Given the description of an element on the screen output the (x, y) to click on. 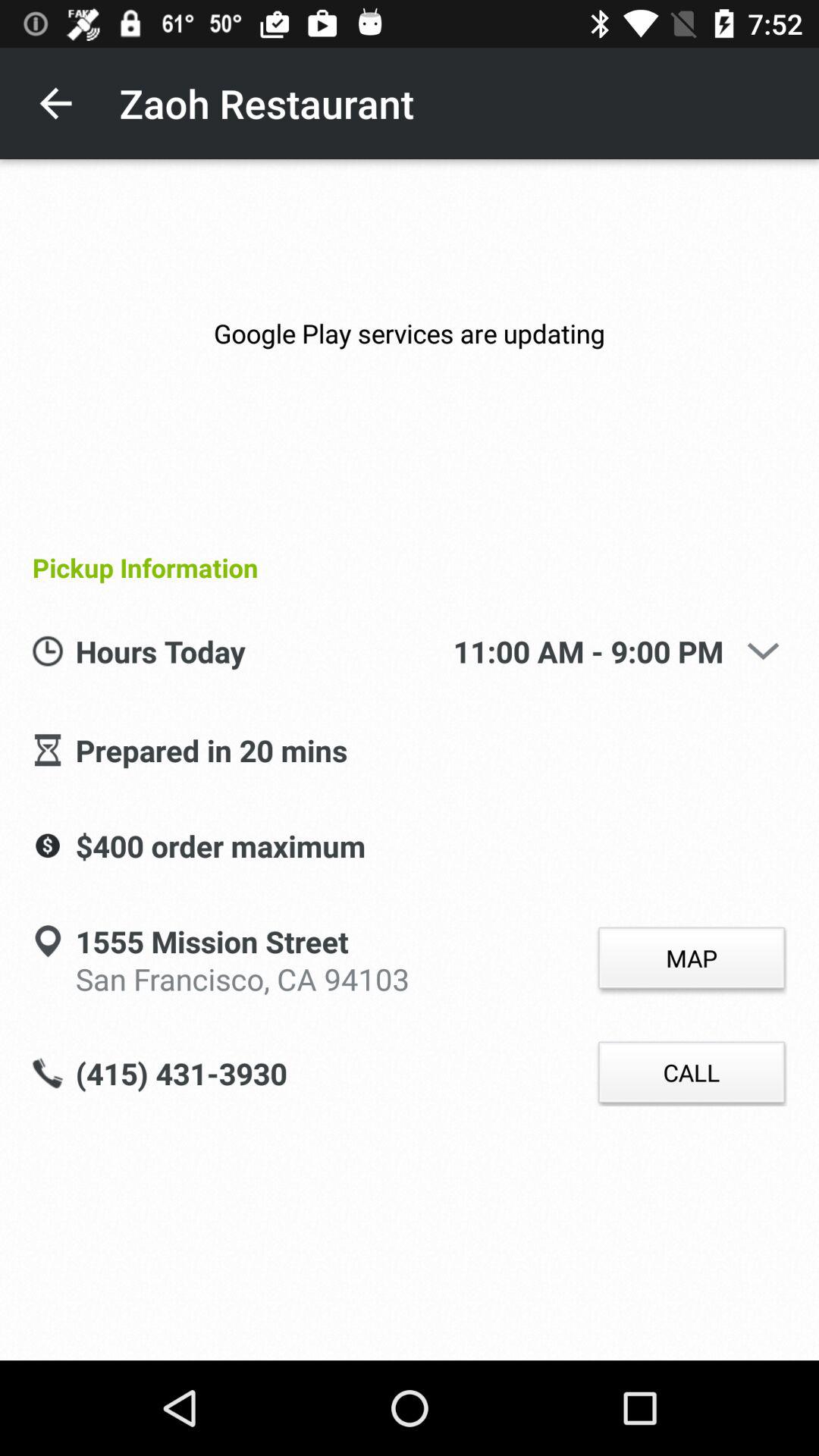
press the icon to the right of (415) 431-3930 item (691, 1073)
